Given the description of an element on the screen output the (x, y) to click on. 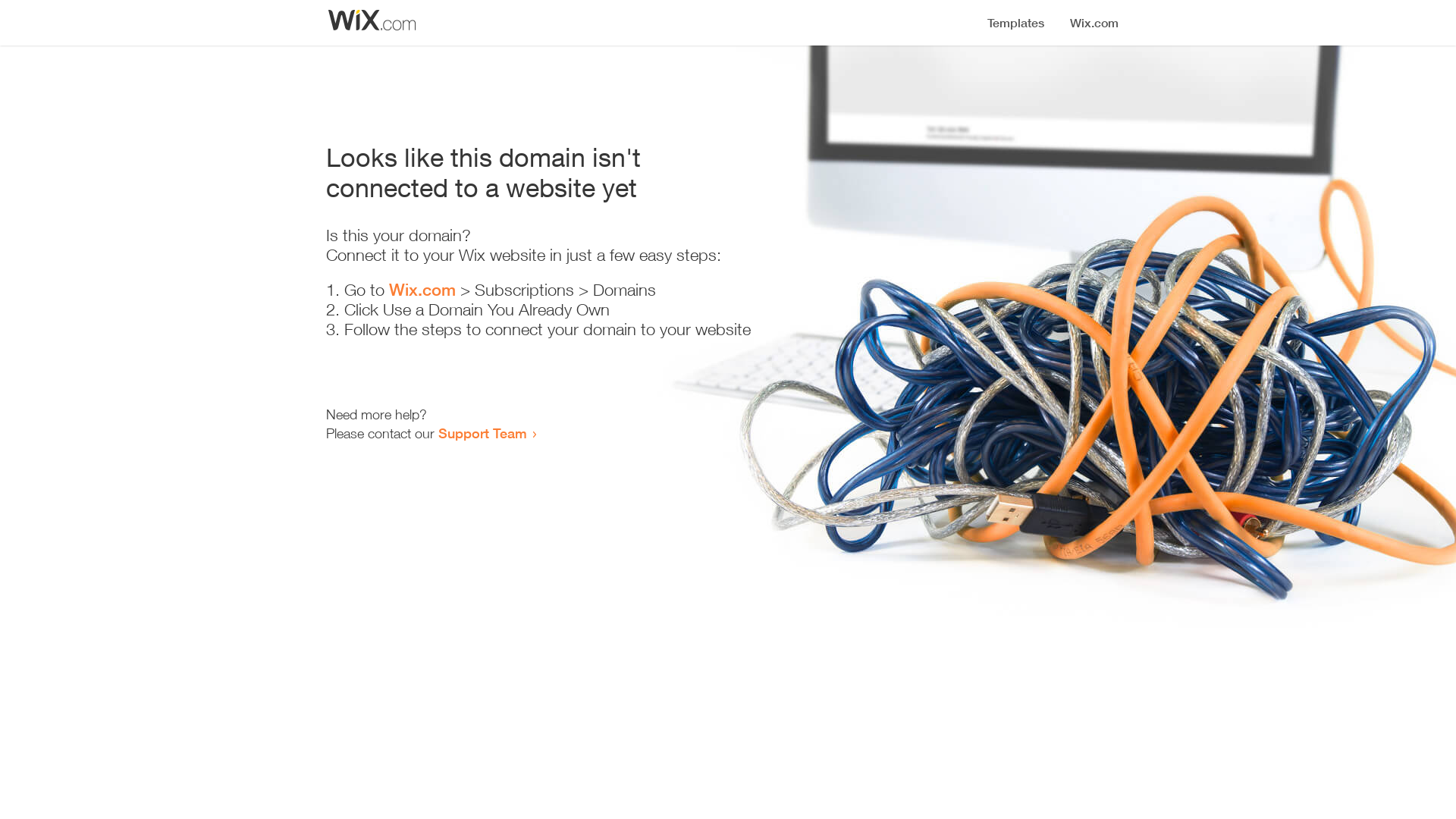
Wix.com Element type: text (422, 289)
Support Team Element type: text (482, 432)
